Given the description of an element on the screen output the (x, y) to click on. 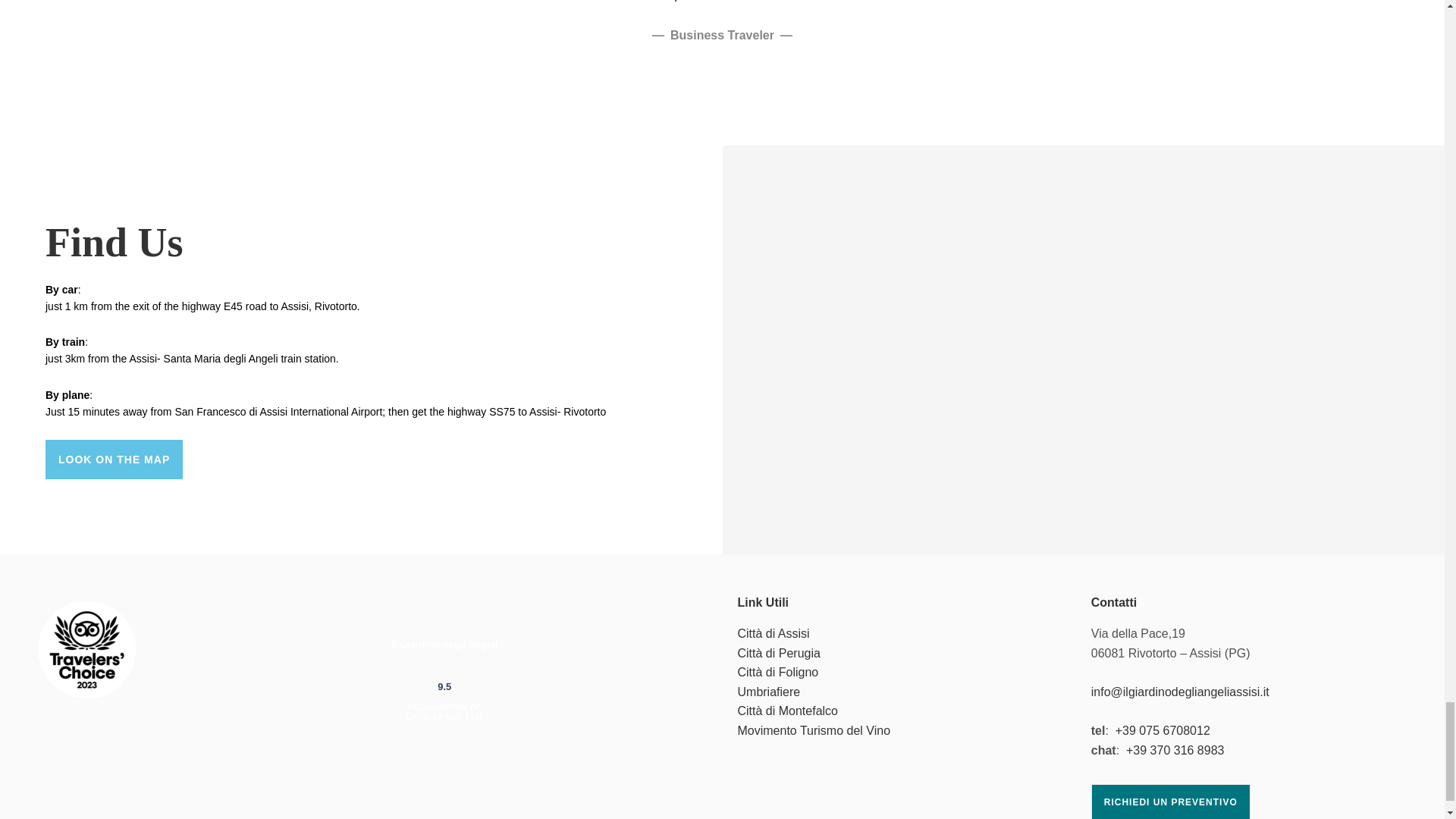
RICHIEDI UN PREVENTIVO (1170, 801)
LOOK ON THE MAP (114, 459)
Movimento Turismo del Vino (812, 730)
Umbriafiere (767, 691)
Il Giardino degli Angeli (444, 644)
